Given the description of an element on the screen output the (x, y) to click on. 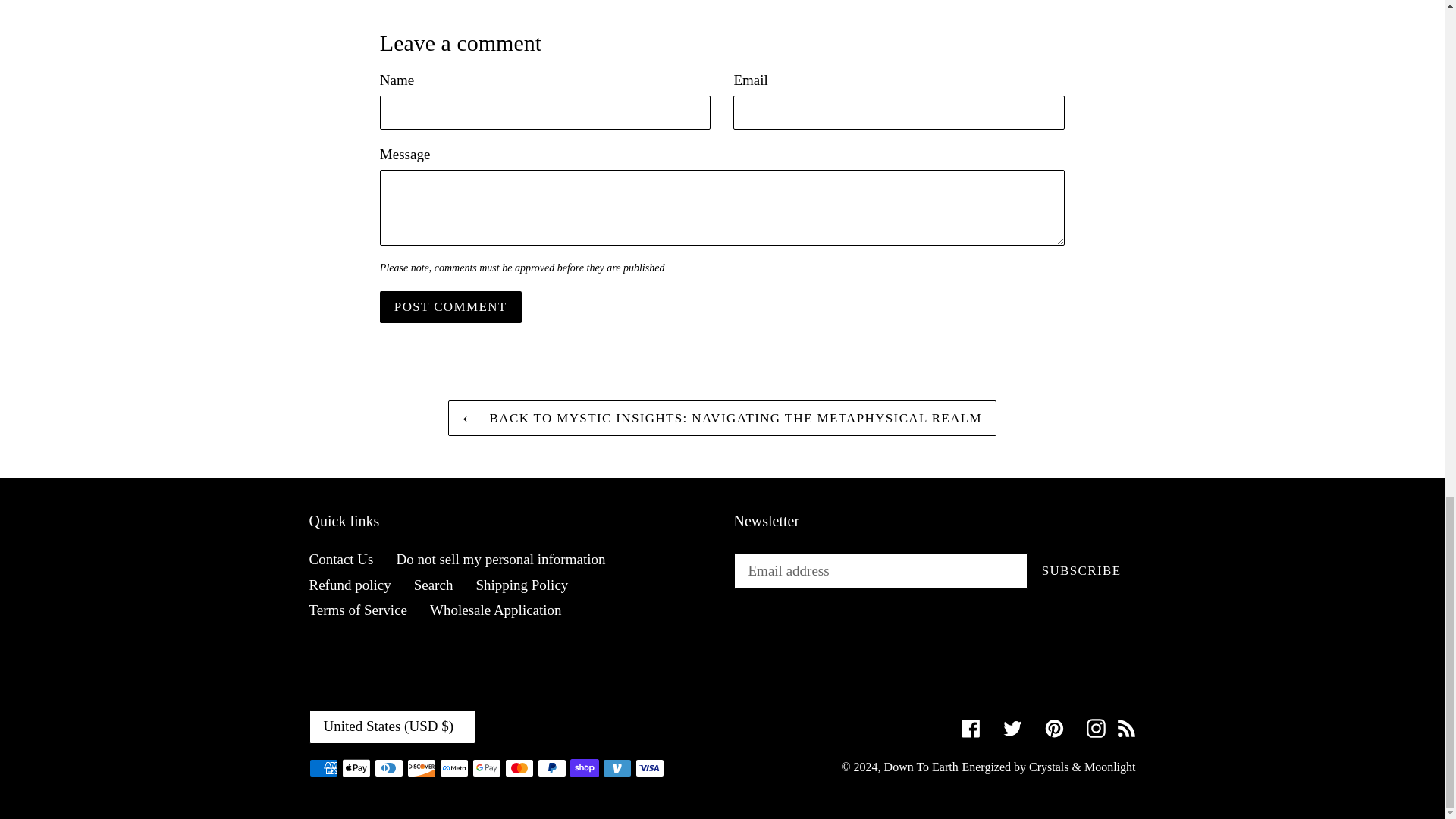
Post comment (450, 306)
